Given the description of an element on the screen output the (x, y) to click on. 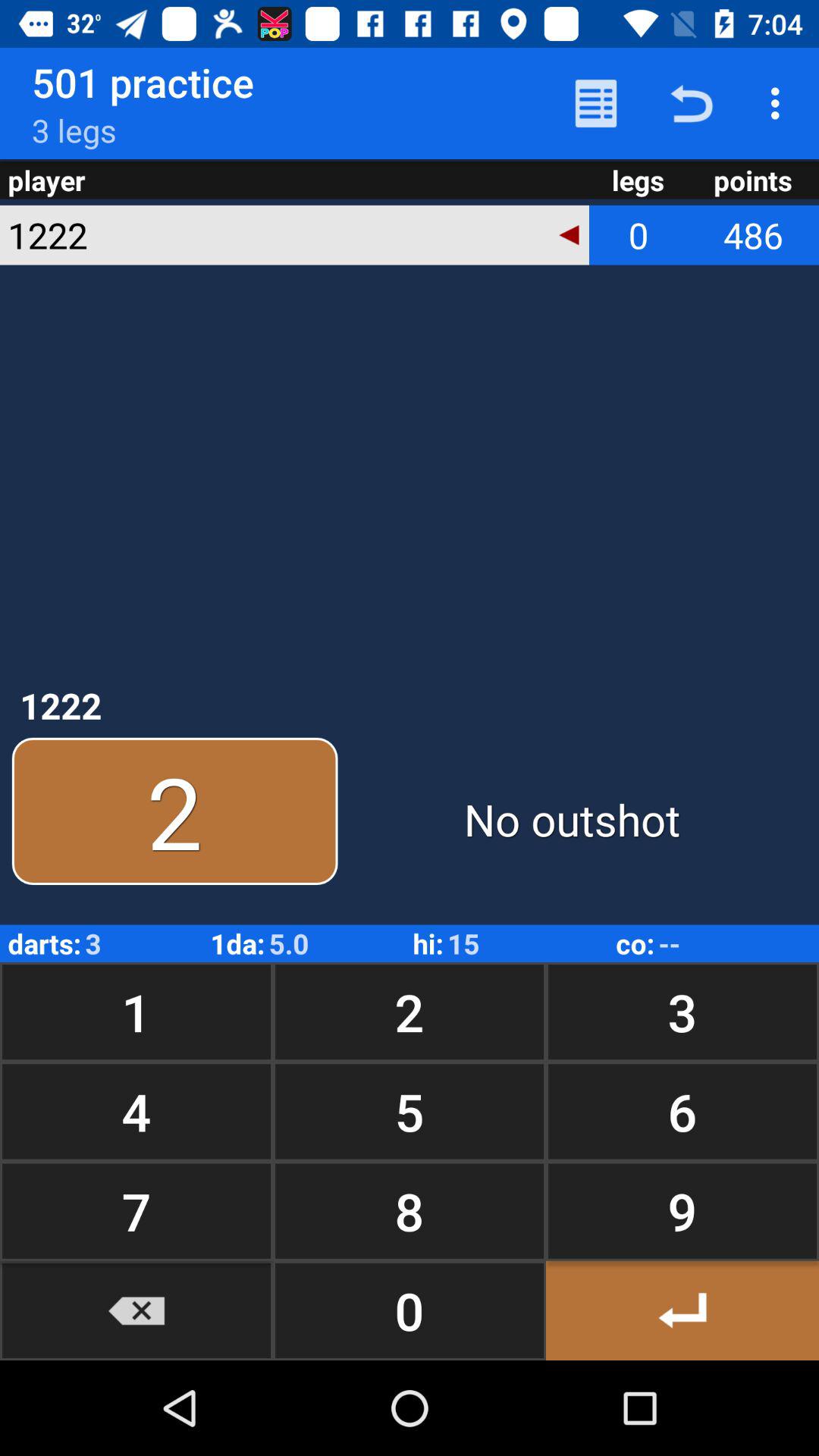
go back (682, 1310)
